Given the description of an element on the screen output the (x, y) to click on. 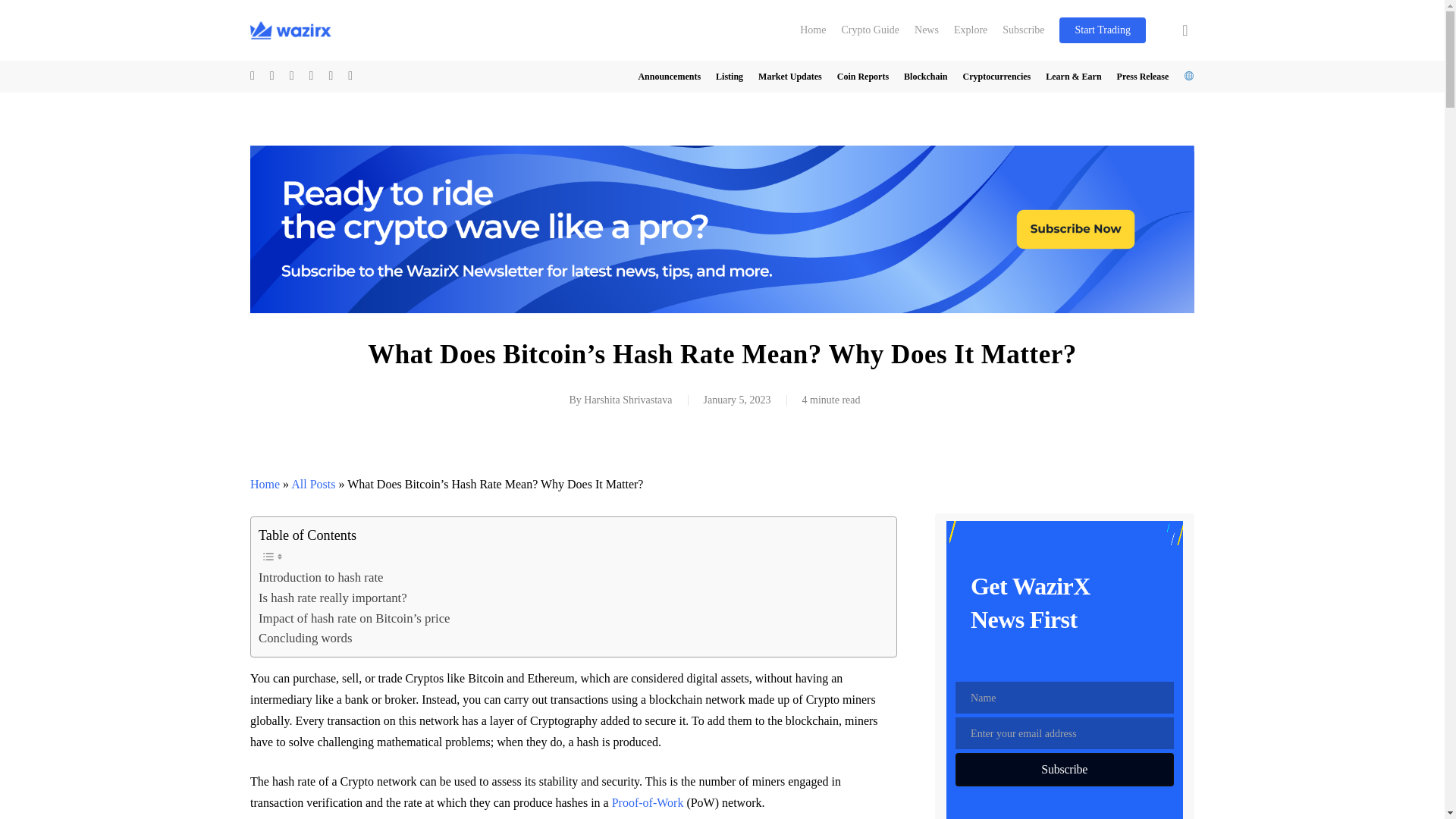
search (1184, 30)
Coin Reports (862, 76)
News (926, 29)
Concluding words (305, 638)
Listing (729, 76)
Home (812, 29)
Press Release (1142, 76)
Explore (970, 29)
Subscribe (1022, 29)
Announcements (668, 76)
Harshita Shrivastava (627, 399)
Start Trading (1102, 29)
Cryptocurrencies (996, 76)
Posts by Harshita Shrivastava (627, 399)
Market Updates (790, 76)
